Given the description of an element on the screen output the (x, y) to click on. 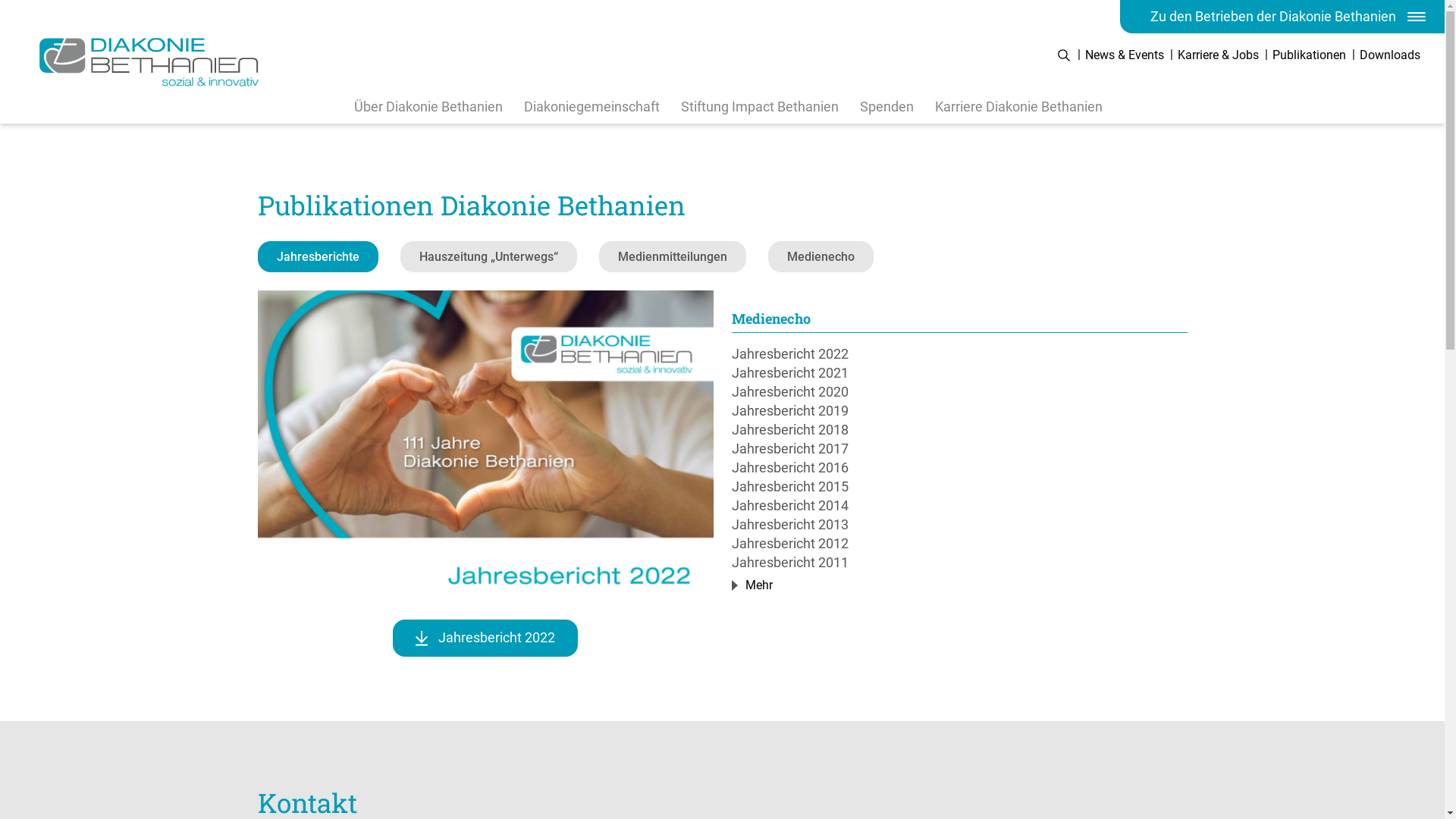
Downloads Element type: text (1389, 54)
Jahresbericht 2021 Element type: text (958, 372)
Jahresbericht 2012 Element type: text (958, 542)
Jahresbericht 2020 Element type: text (958, 391)
Jahresbericht 2016 Element type: text (958, 467)
Jahresbericht 2022 Element type: text (958, 353)
Jahresbericht 2017 Element type: text (958, 448)
Jahresbericht 2022 Element type: text (484, 638)
Karriere Diakonie Bethanien Element type: text (1017, 106)
Jahresbericht 2011 Element type: text (958, 561)
Jahresberichte Element type: text (317, 256)
Karriere & Jobs Element type: text (1217, 54)
Jahresbericht 2014 Element type: text (958, 504)
Diakoniegemeinschaft Element type: text (590, 106)
Spenden Element type: text (886, 106)
Jahresbericht 2019 Element type: text (958, 410)
Zu den Betrieben der Diakonie Bethanien Element type: text (1282, 16)
News & Events Element type: text (1124, 54)
Mehr Element type: text (756, 585)
Medienecho Element type: text (819, 256)
Jahresbericht 2013 Element type: text (958, 523)
Medienmitteilungen Element type: text (672, 256)
Jahresbericht 2015 Element type: text (958, 485)
Jahresbericht 2018 Element type: text (958, 429)
Stiftung Impact Bethanien Element type: text (759, 106)
Publikationen Element type: text (1309, 54)
